Given the description of an element on the screen output the (x, y) to click on. 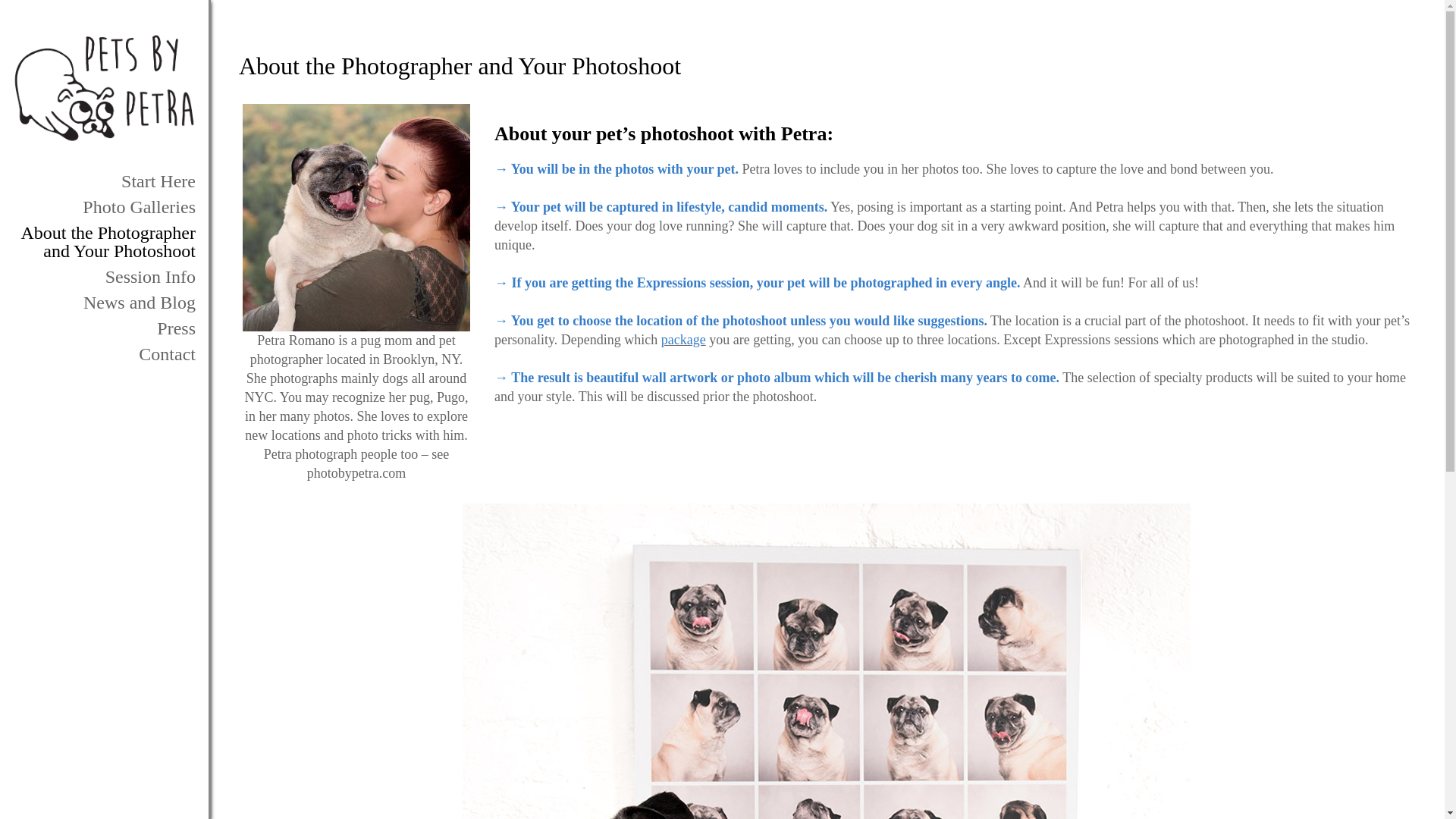
Contact (104, 353)
News and Blog (104, 302)
Press (104, 328)
Start Here (104, 181)
About the Photographer and Your Photoshoot (104, 241)
Pets by Petra (104, 87)
Photo Galleries (104, 207)
Session Info (104, 276)
package (683, 339)
